Given the description of an element on the screen output the (x, y) to click on. 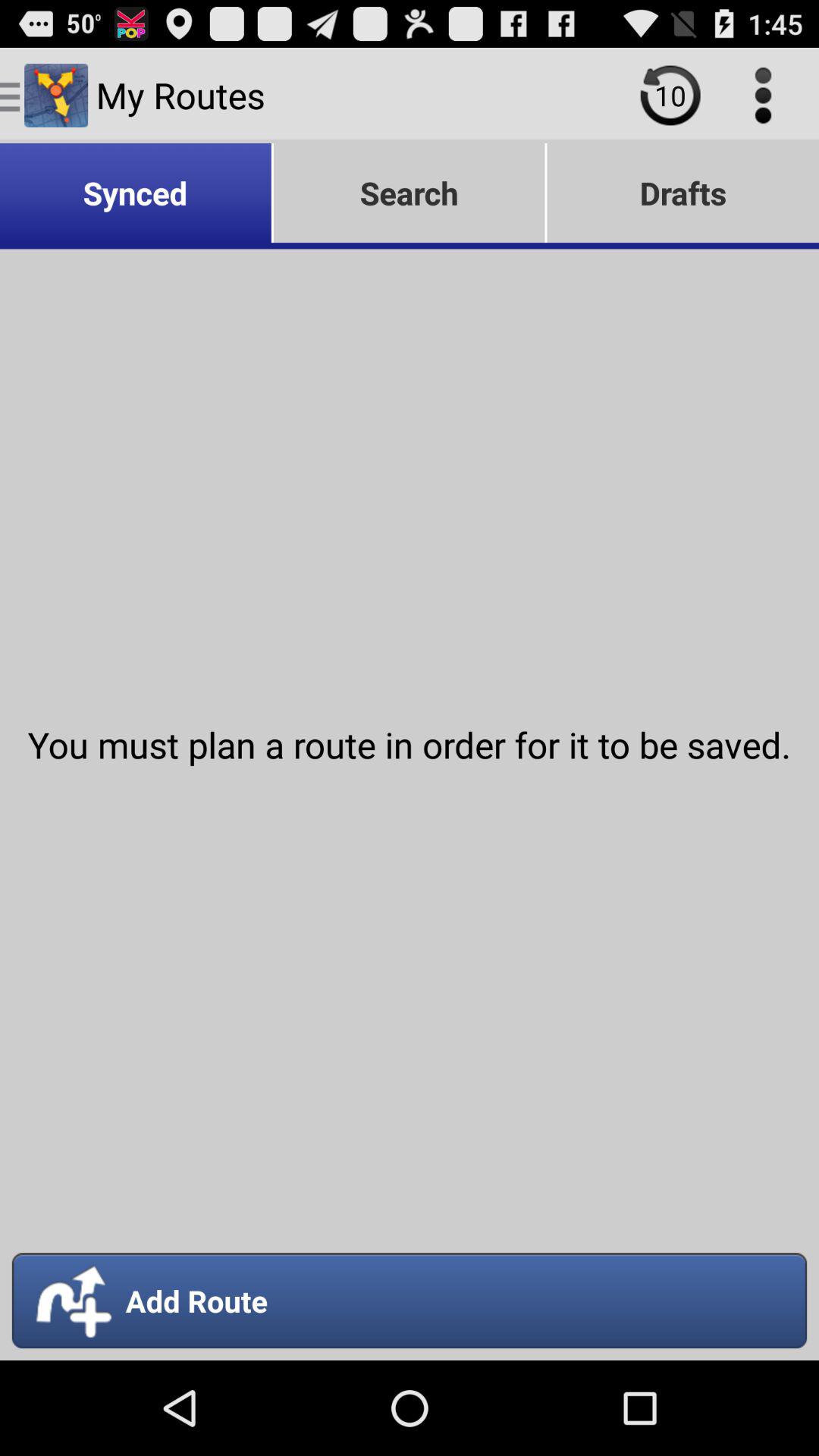
turn off 10 item (670, 95)
